Given the description of an element on the screen output the (x, y) to click on. 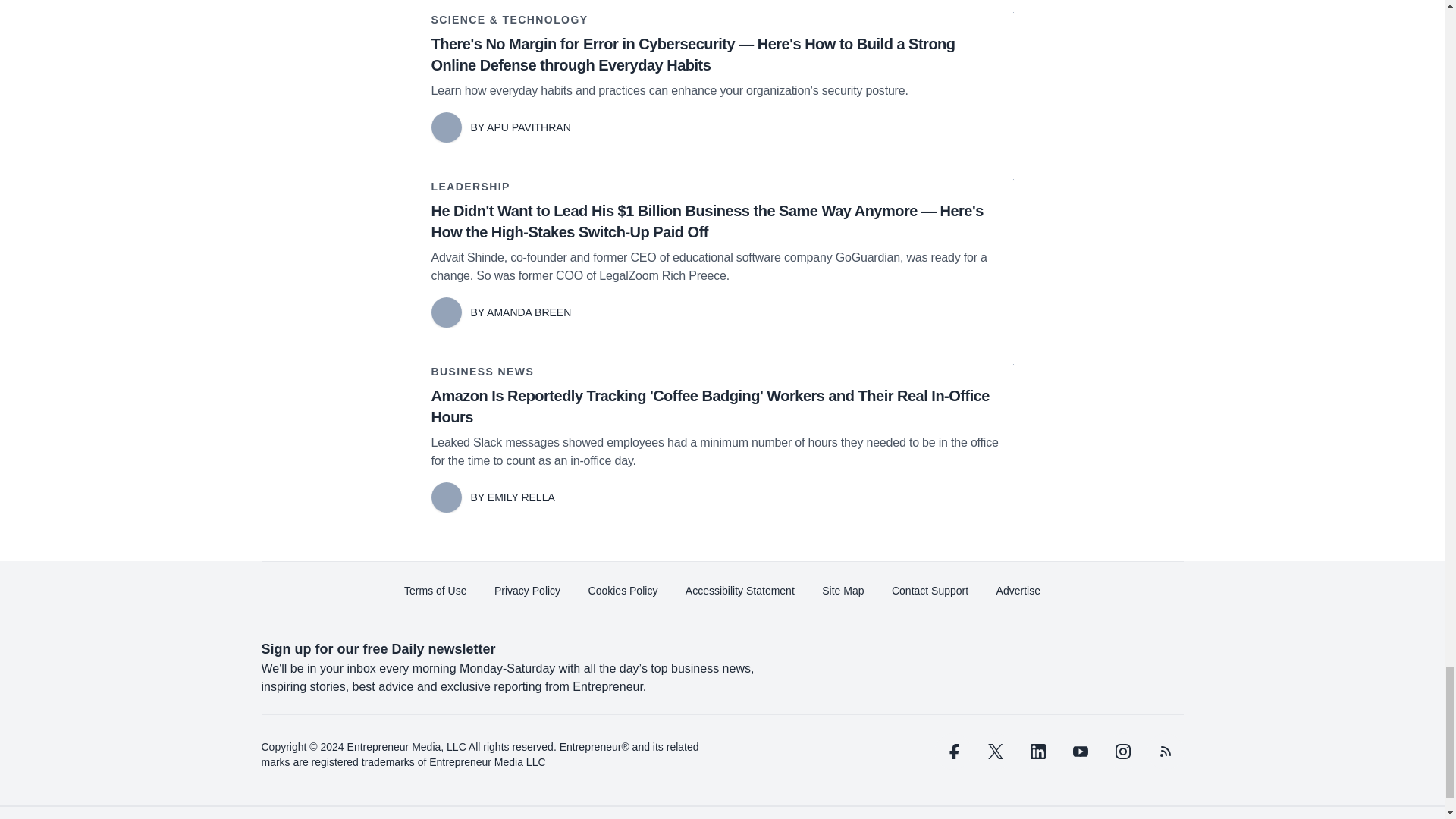
instagram (1121, 751)
twitter (994, 751)
youtube (1079, 751)
rss (1164, 751)
facebook (952, 751)
linkedin (1037, 751)
